Given the description of an element on the screen output the (x, y) to click on. 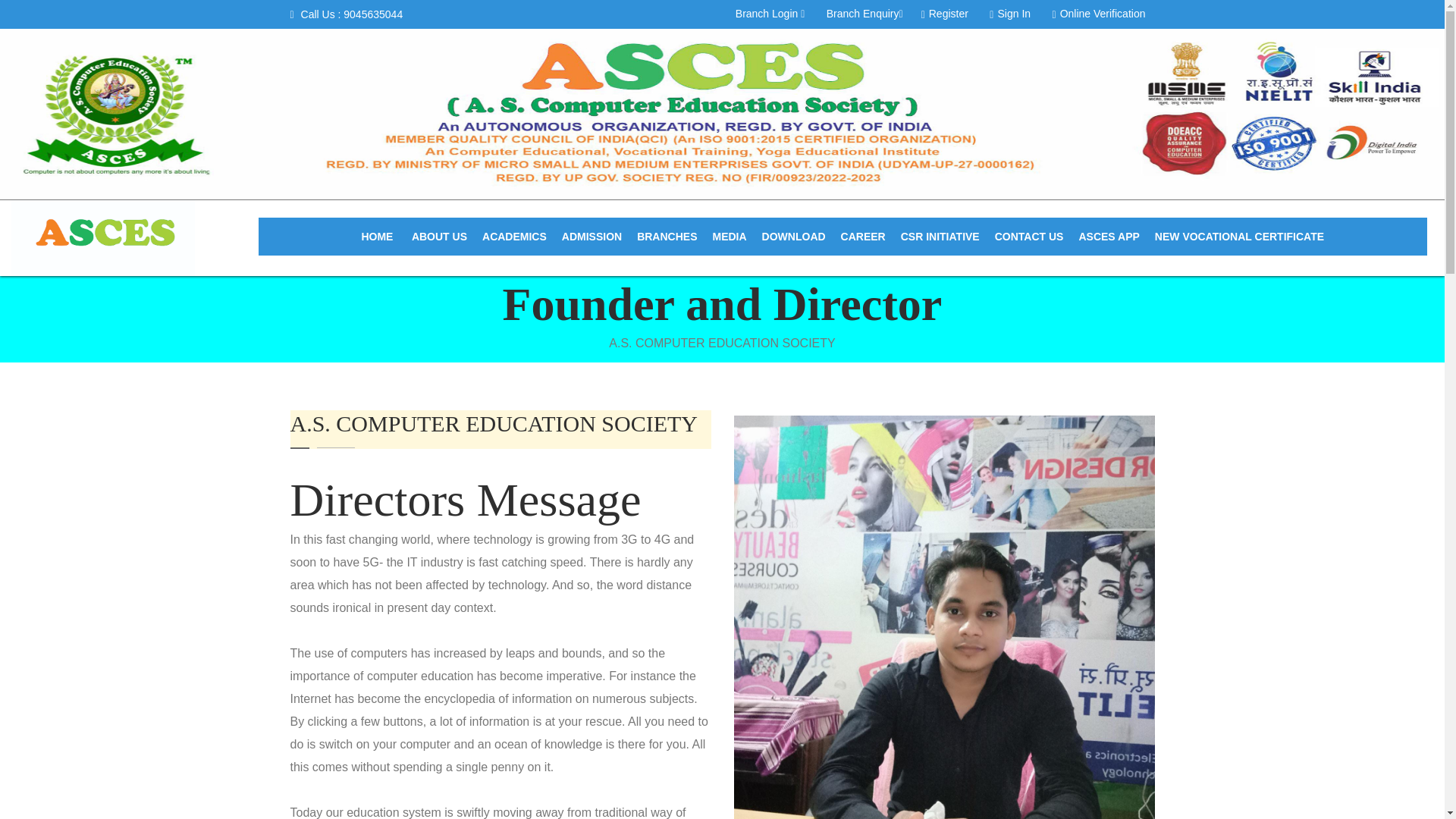
HOME (376, 236)
Online Verification (1098, 12)
Branch Enquiry (864, 12)
BRANCHES (666, 236)
MEDIA (729, 236)
Sign In (1009, 12)
ADMISSION (591, 236)
ABOUT US (439, 236)
ACADEMICS (514, 236)
DOWNLOAD (793, 236)
Register (944, 12)
Branch Login (769, 12)
